Given the description of an element on the screen output the (x, y) to click on. 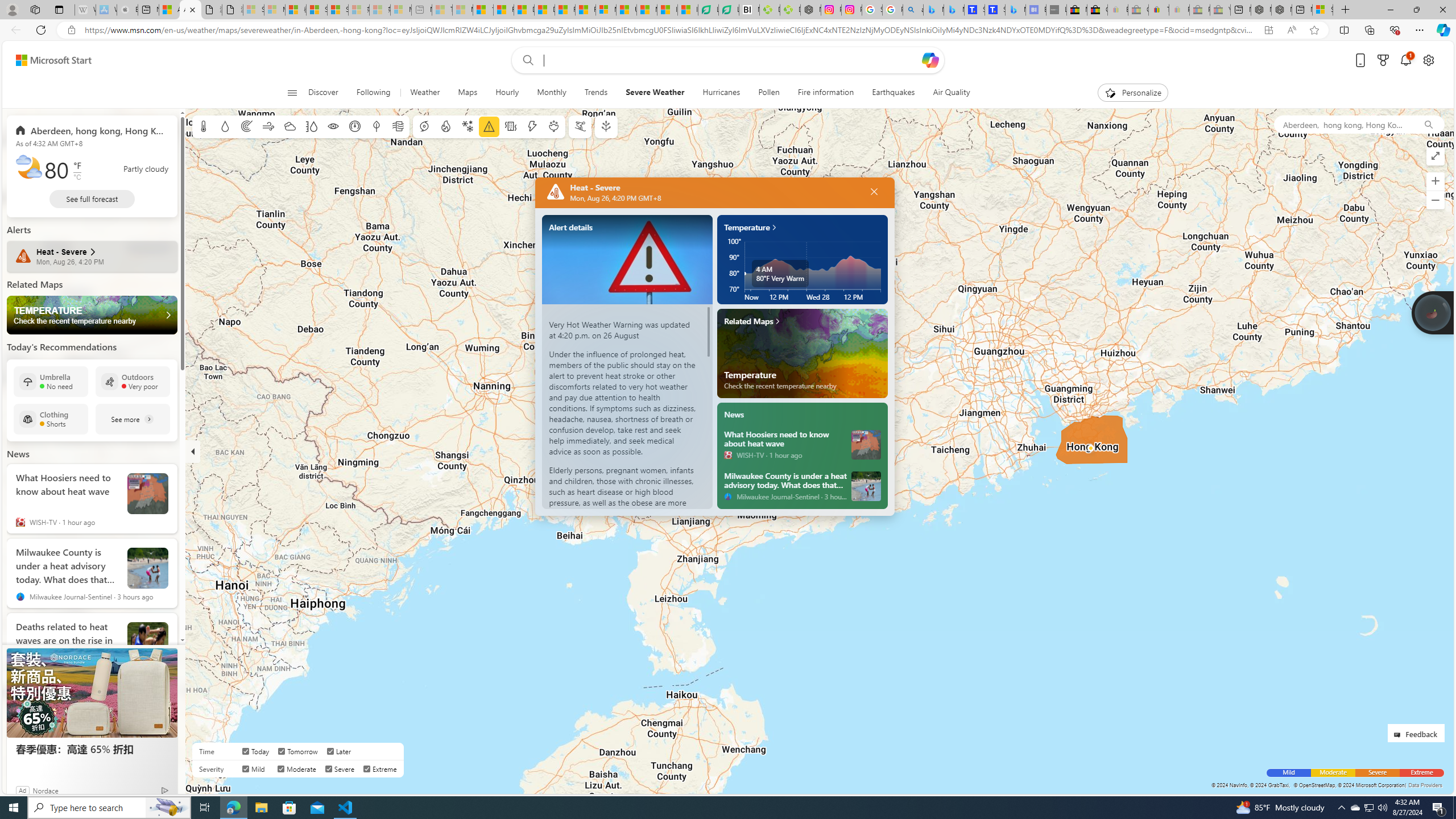
Microsoft Bing Travel - Flights from Hong Kong to Bangkok (933, 9)
Open settings (1427, 60)
WISH-TV (727, 454)
Severe weather (489, 126)
